Given the description of an element on the screen output the (x, y) to click on. 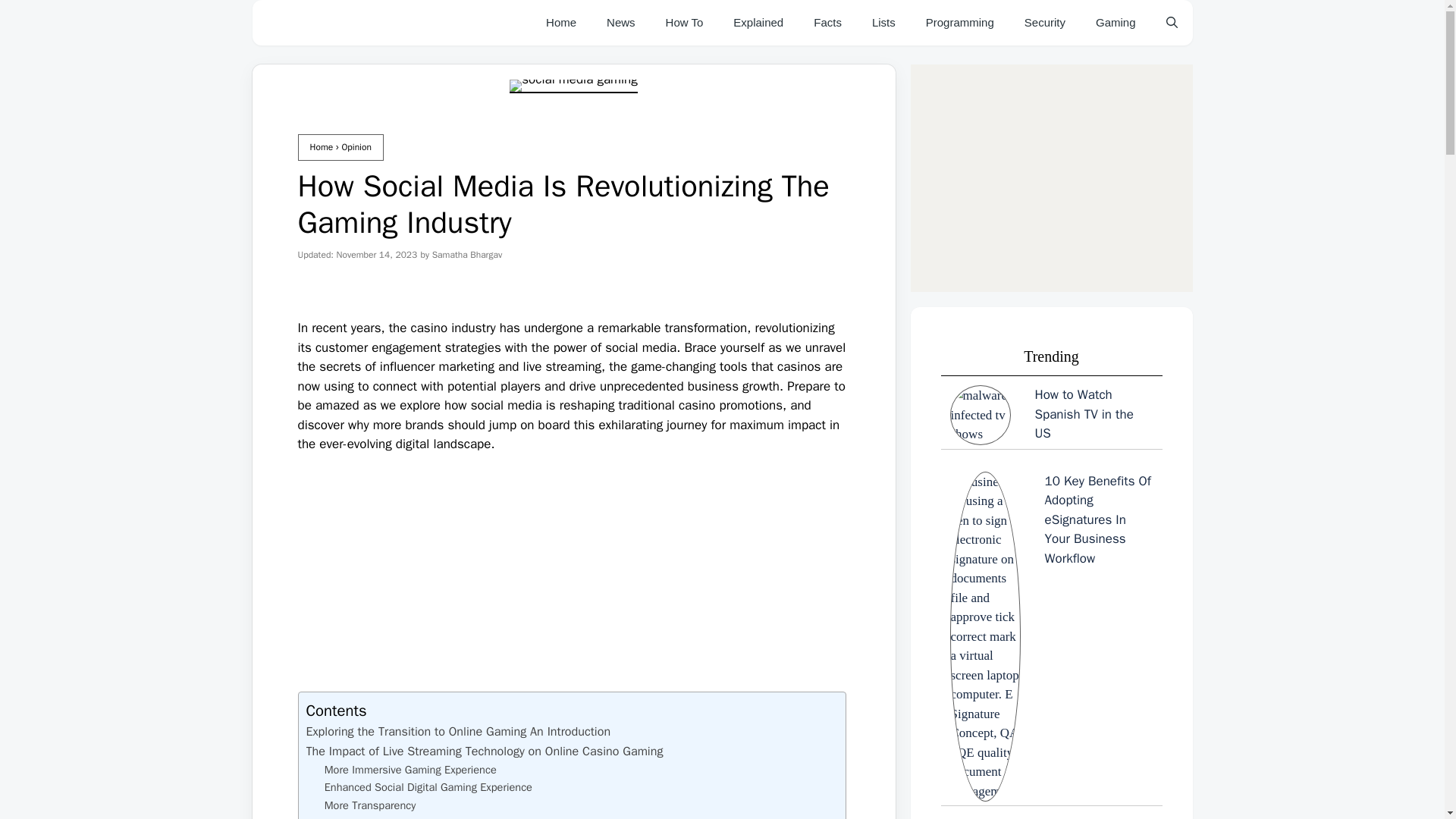
The Role of Influencer Marketing (392, 816)
More Immersive Gaming Experience (410, 769)
Enhanced Social Digital Gaming Experience (428, 787)
How to Watch Spanish TV in the US (1051, 414)
The Role of Influencer Marketing (392, 816)
How To (684, 22)
Technology (620, 22)
Explained (757, 22)
Exploring the Transition to Online Gaming An Introduction (458, 731)
Programming (960, 22)
Home (320, 146)
Enhanced Social Digital Gaming Experience (428, 787)
Facts (827, 22)
